Given the description of an element on the screen output the (x, y) to click on. 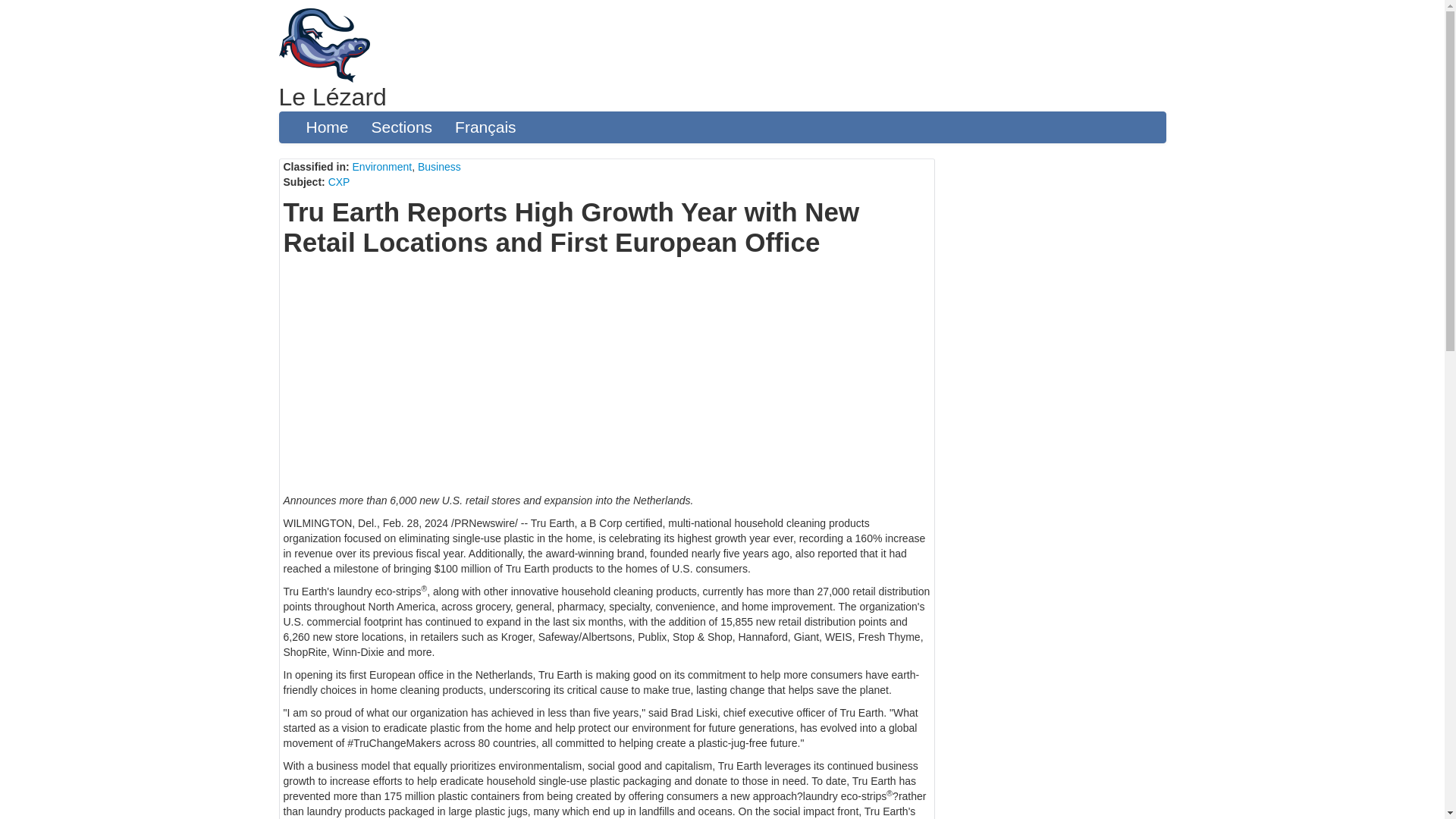
CXP (339, 182)
Business (439, 166)
Home (326, 127)
Sections (401, 127)
Environment (382, 166)
